Given the description of an element on the screen output the (x, y) to click on. 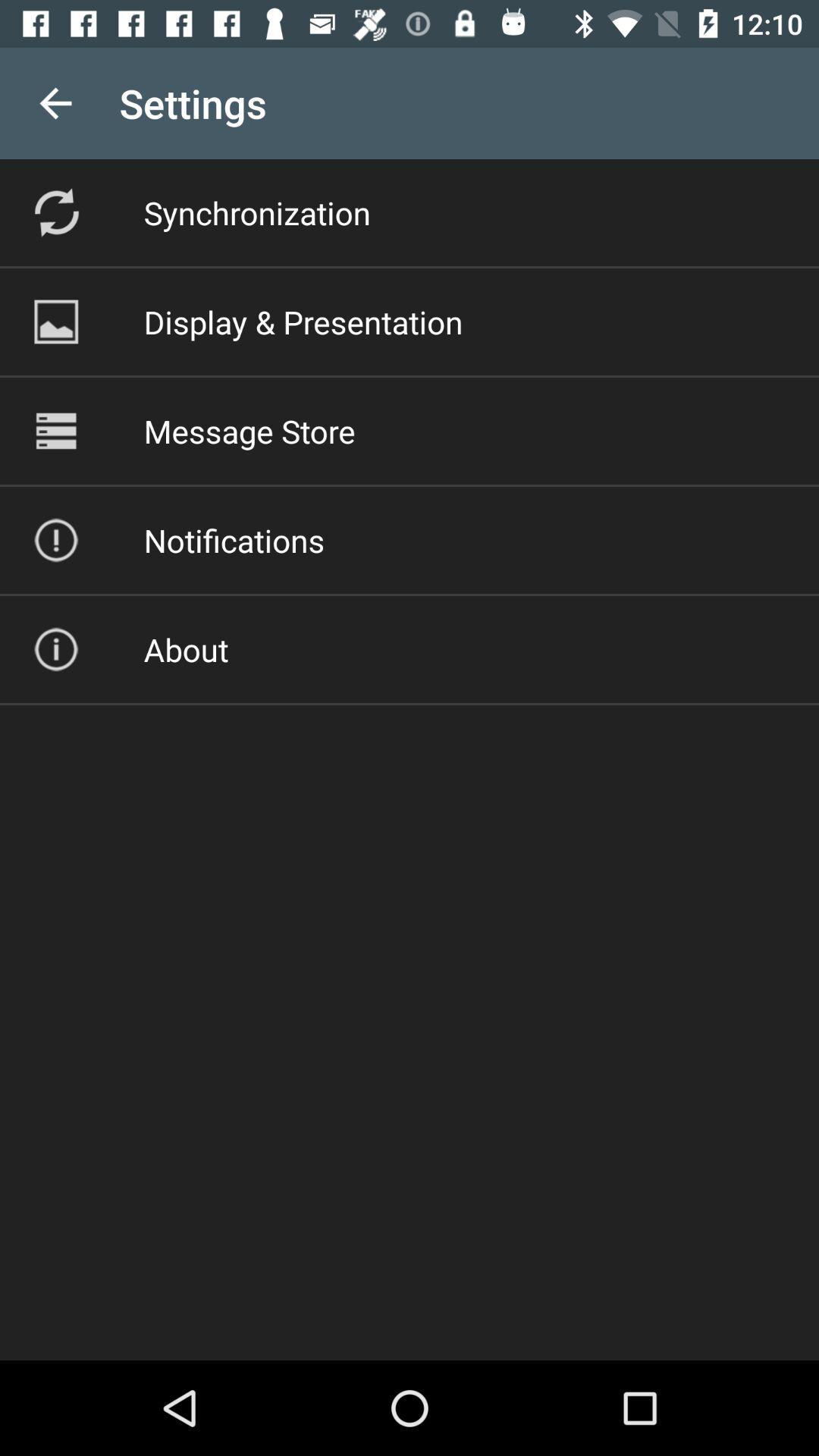
select the icon above the message store item (302, 321)
